Given the description of an element on the screen output the (x, y) to click on. 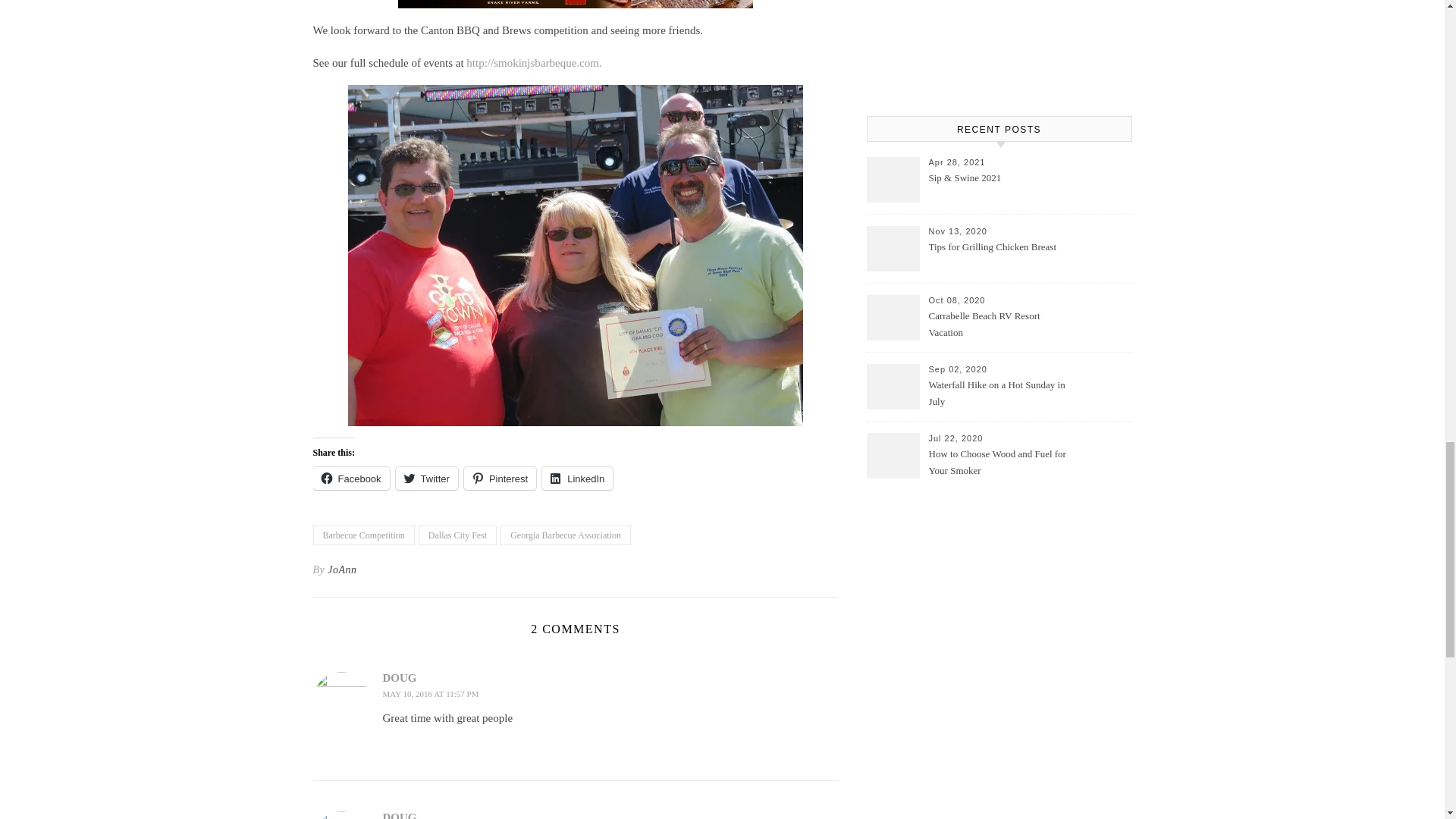
Click to share on LinkedIn (576, 477)
Posts by JoAnn (341, 569)
Click to share on Pinterest (499, 477)
Click to share on Facebook (350, 477)
Click to share on Twitter (427, 477)
